Given the description of an element on the screen output the (x, y) to click on. 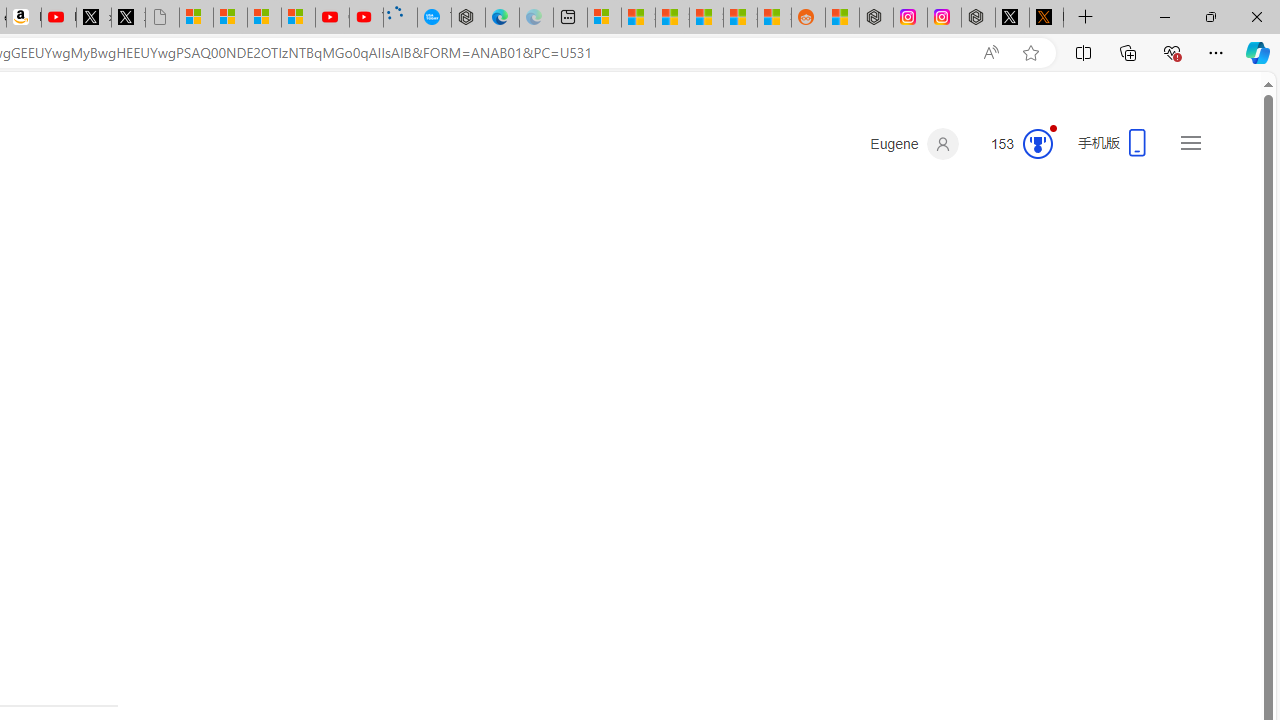
Day 1: Arriving in Yemen (surreal to be here) - YouTube (58, 17)
Microsoft Rewards 150 (1014, 143)
Class: outer-circle-animation (1037, 143)
Copilot (Ctrl+Shift+.) (1258, 52)
New tab (570, 17)
Gloom - YouTube (332, 17)
Settings and quick links (1190, 142)
Minimize (1164, 16)
YouTube Kids - An App Created for Kids to Explore Content (365, 17)
